Given the description of an element on the screen output the (x, y) to click on. 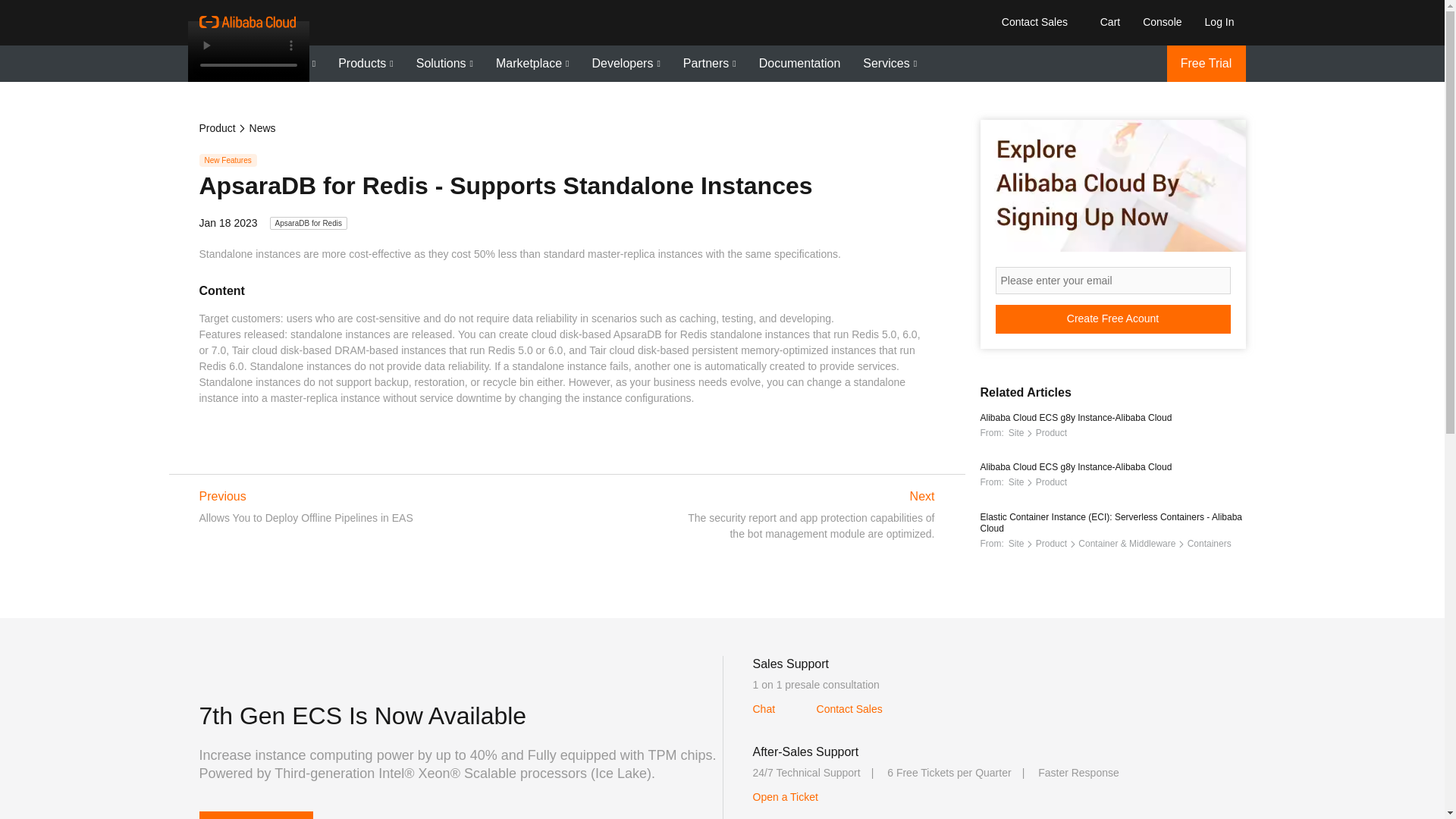
Developers (625, 63)
Partners (709, 63)
Console (1161, 22)
Products (365, 63)
Documentation (799, 63)
Log In (1219, 22)
Services (890, 63)
  Cart (1107, 22)
Free Trial (1205, 63)
Marketplace (532, 63)
